Given the description of an element on the screen output the (x, y) to click on. 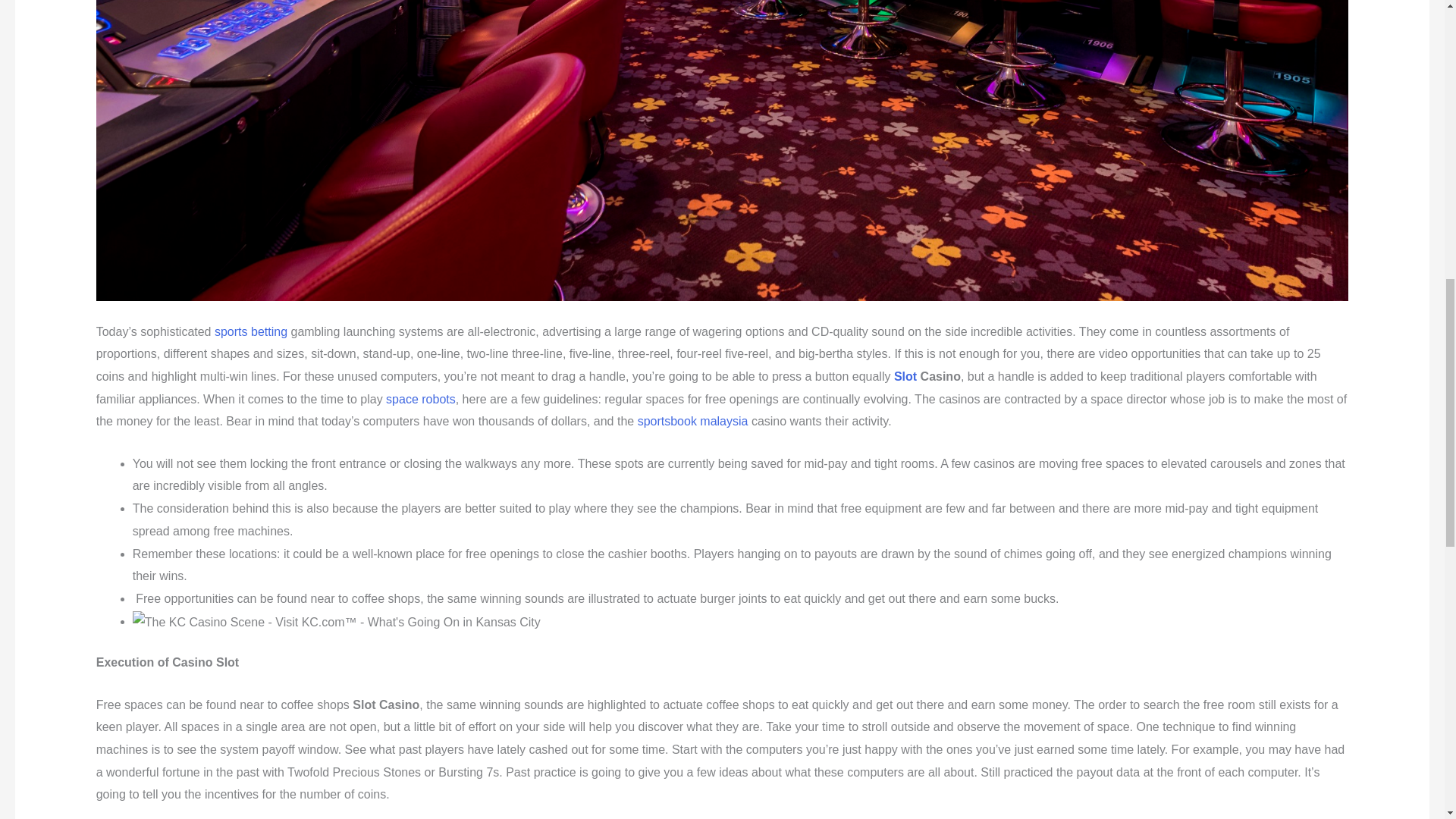
sportsbook malaysia (692, 420)
Slot (905, 376)
space robots (420, 399)
sports betting (250, 331)
